Given the description of an element on the screen output the (x, y) to click on. 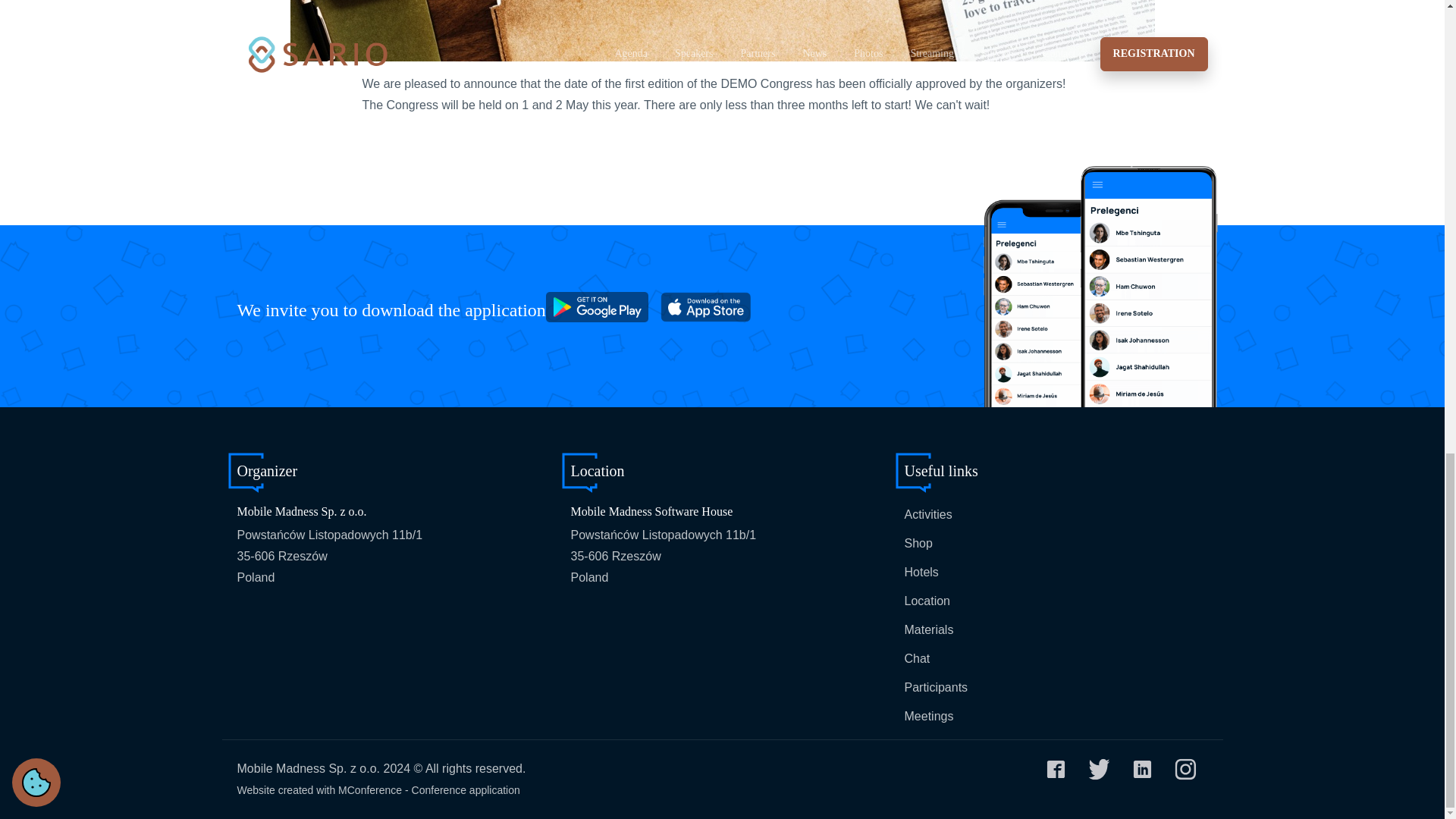
TURN ON NOTIFICATIONS (1081, 15)
Hotels (920, 571)
NO, THANK YOU (1220, 15)
MConference - Conference application (428, 789)
Meetings (928, 716)
Chat (917, 658)
Participants (936, 686)
Location (927, 600)
Activities (928, 513)
Materials (928, 629)
MConference - Conference application (428, 789)
Shop (917, 543)
